Given the description of an element on the screen output the (x, y) to click on. 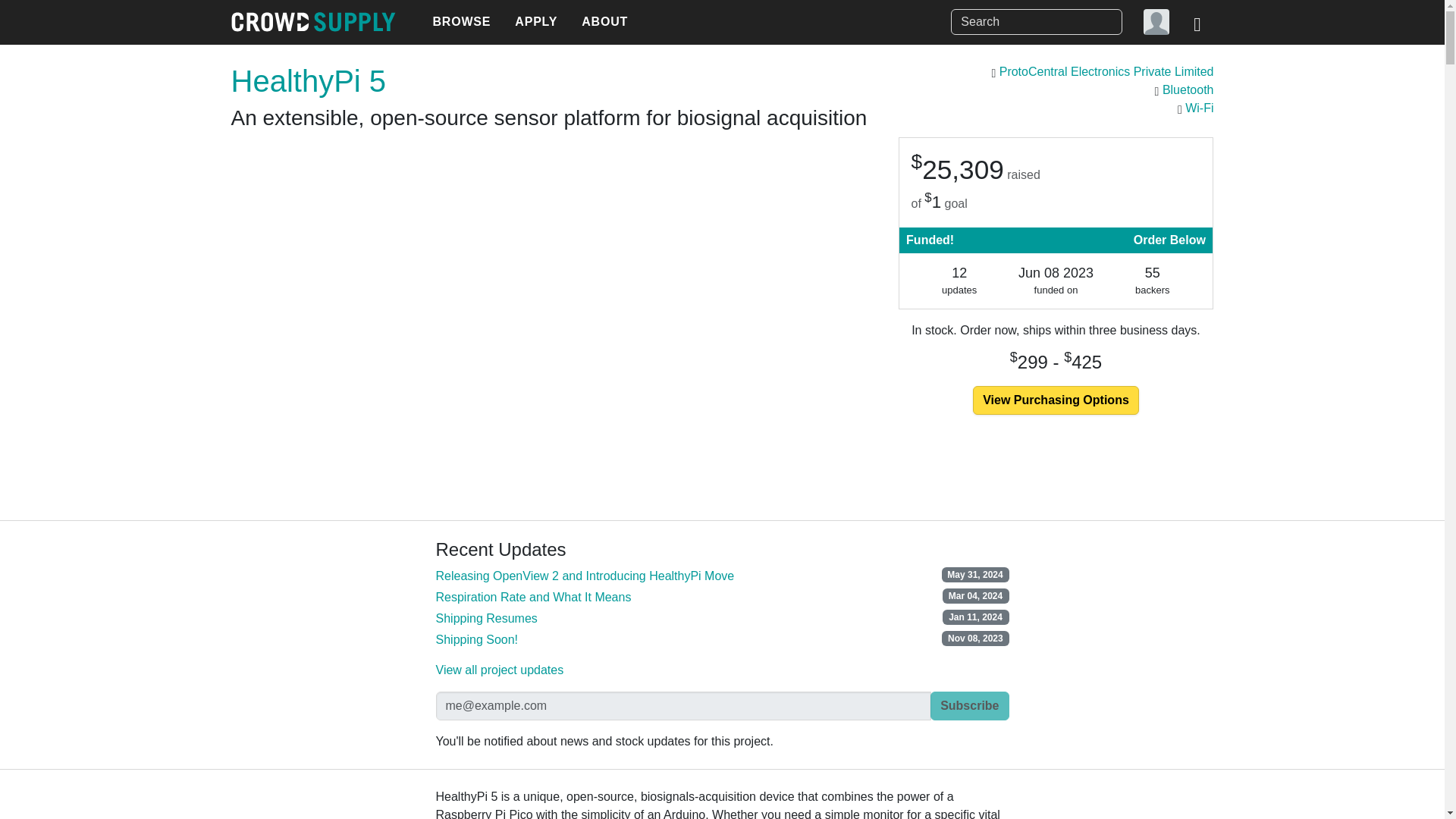
Shipping Resumes (486, 617)
Bluetooth (1187, 89)
ABOUT (604, 21)
Crowd Supply (312, 22)
Subscribe (969, 705)
Wi-Fi (1198, 107)
View all project updates (499, 669)
APPLY (535, 21)
Shipping Soon! (476, 639)
Releasing OpenView 2 and Introducing HealthyPi Move (584, 575)
